Given the description of an element on the screen output the (x, y) to click on. 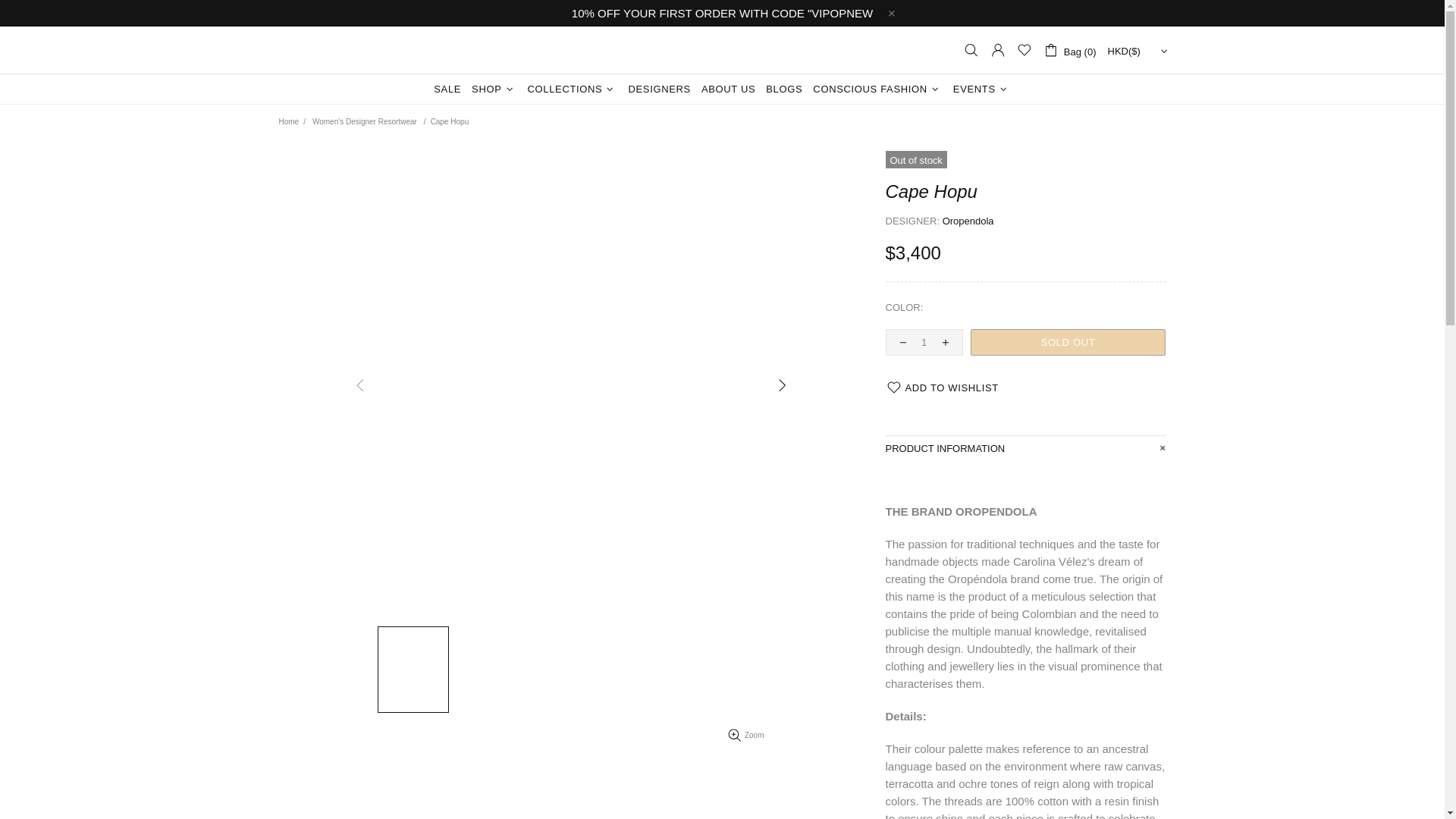
1 (923, 342)
SHOP (493, 89)
SALE (446, 89)
VIPOP (721, 49)
